Given the description of an element on the screen output the (x, y) to click on. 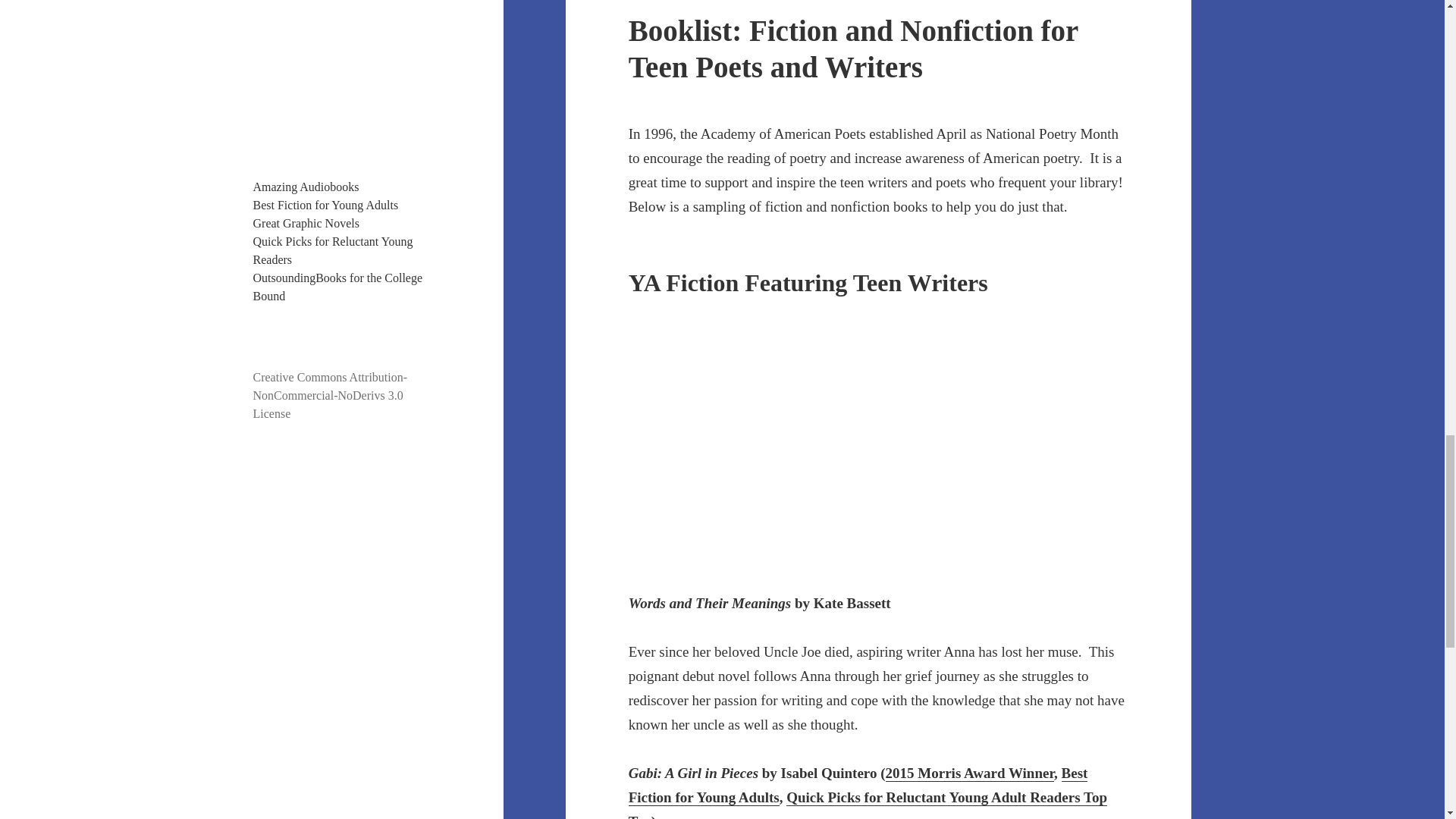
Best Fiction for Young Adults (325, 205)
Quick Picks for Reluctant Young Readers (333, 250)
Great Graphic Novels (306, 223)
OutsoundingBooks for the College Bound (338, 286)
Amazing Audiobooks (306, 186)
